Given the description of an element on the screen output the (x, y) to click on. 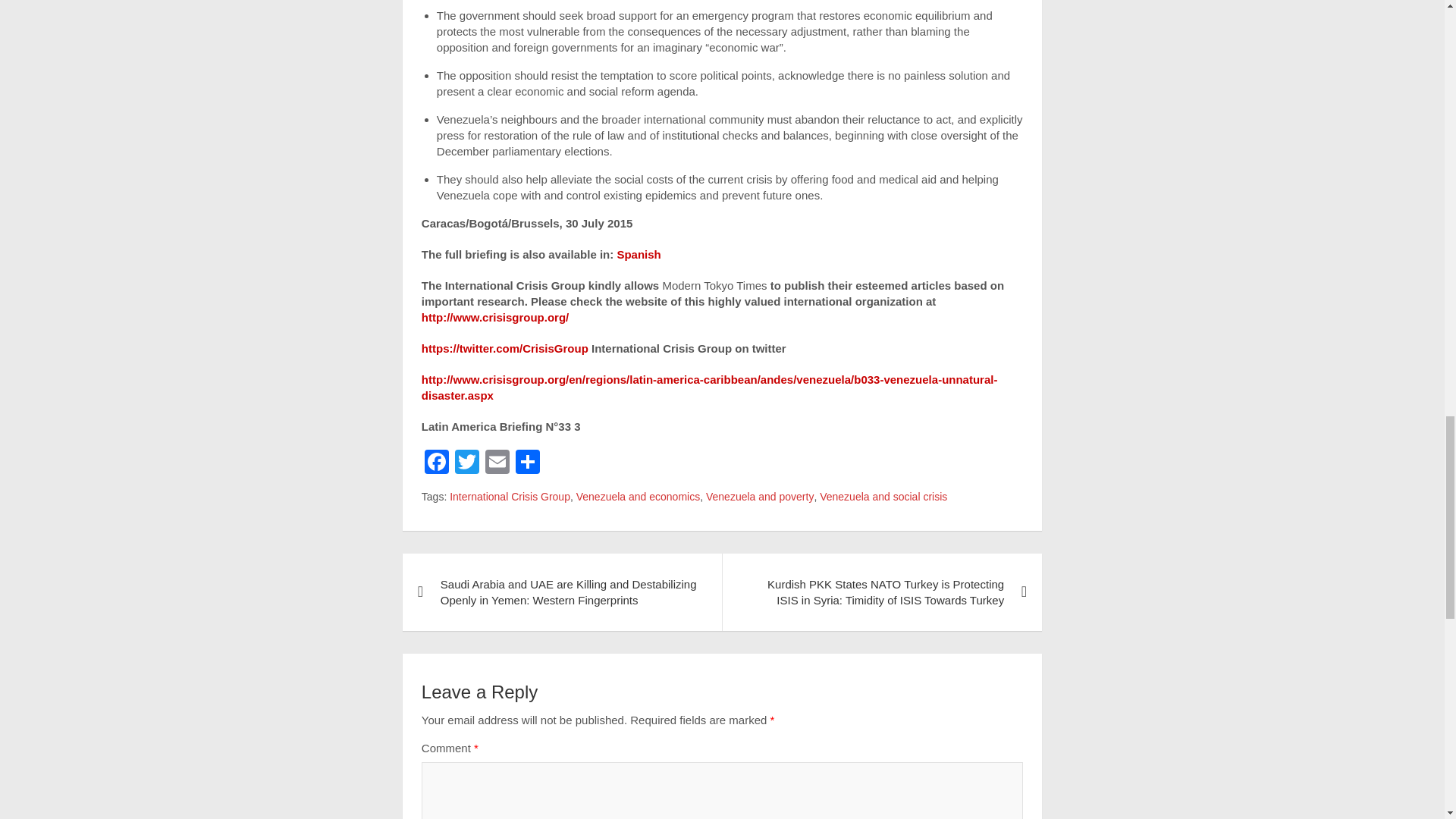
Email (496, 463)
Venezuela and economics (638, 497)
International Crisis Group (509, 497)
Twitter (466, 463)
Email (496, 463)
Facebook (436, 463)
Venezuela and poverty (759, 497)
Spanish (638, 254)
Facebook (436, 463)
